Given the description of an element on the screen output the (x, y) to click on. 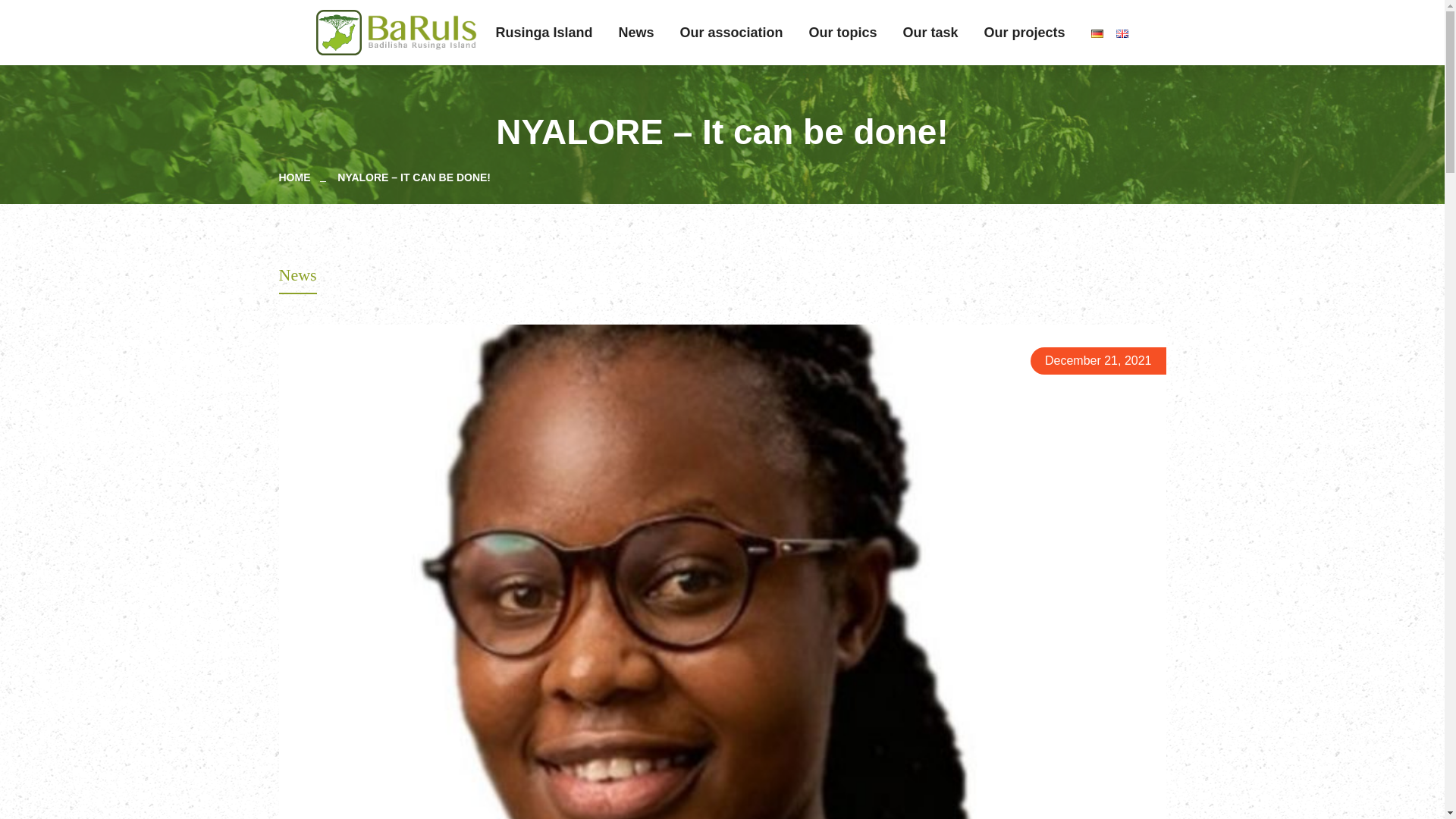
News (635, 32)
Badilisha Rusinga Island (422, 31)
Rusinga Island (543, 32)
News (635, 32)
Our task (930, 32)
Our topics (843, 32)
Rusinga Island (543, 32)
Our topics (843, 32)
Our projects (1024, 32)
Our association (731, 32)
Our association (731, 32)
